Given the description of an element on the screen output the (x, y) to click on. 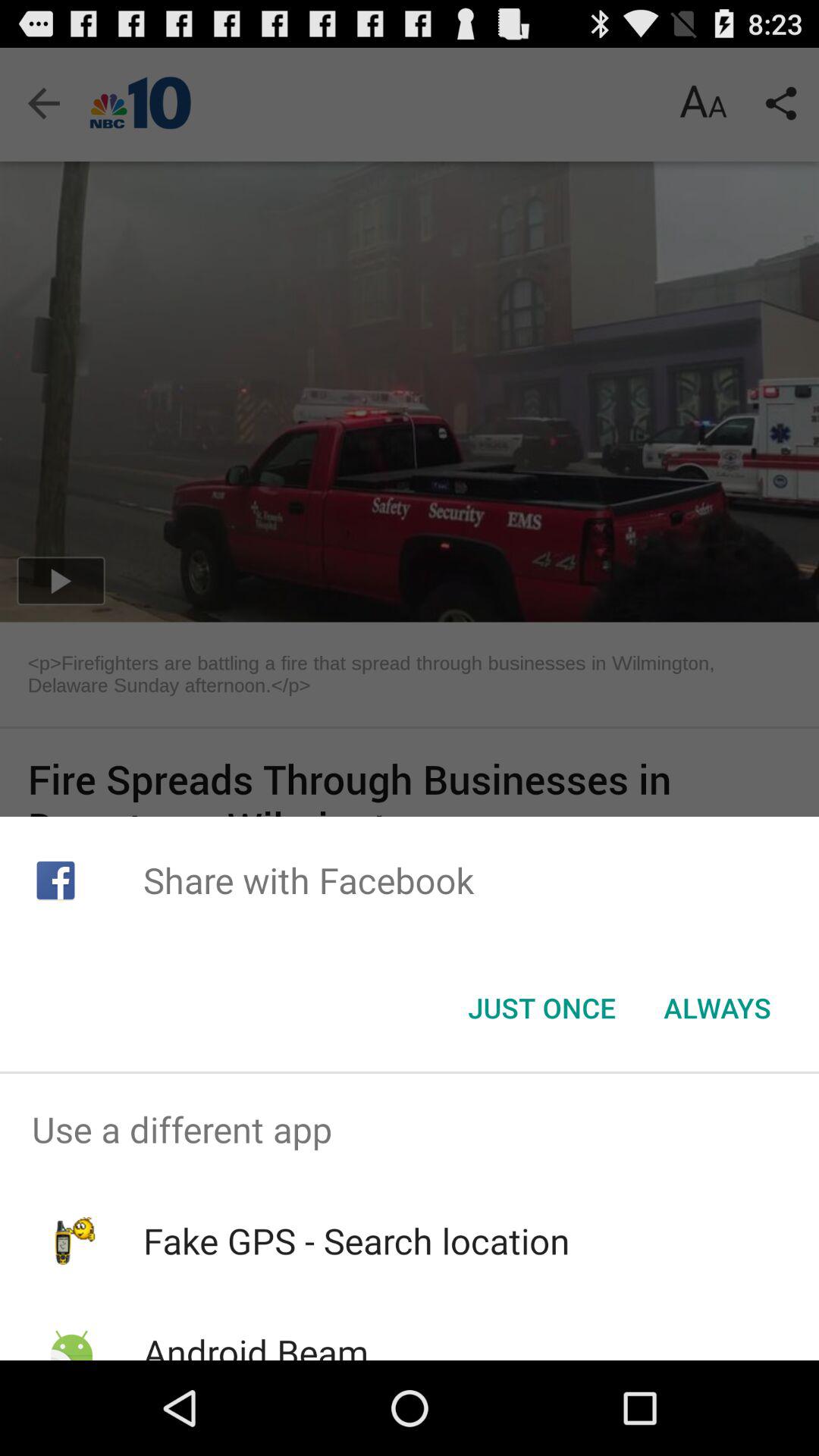
flip until the fake gps search app (356, 1240)
